Given the description of an element on the screen output the (x, y) to click on. 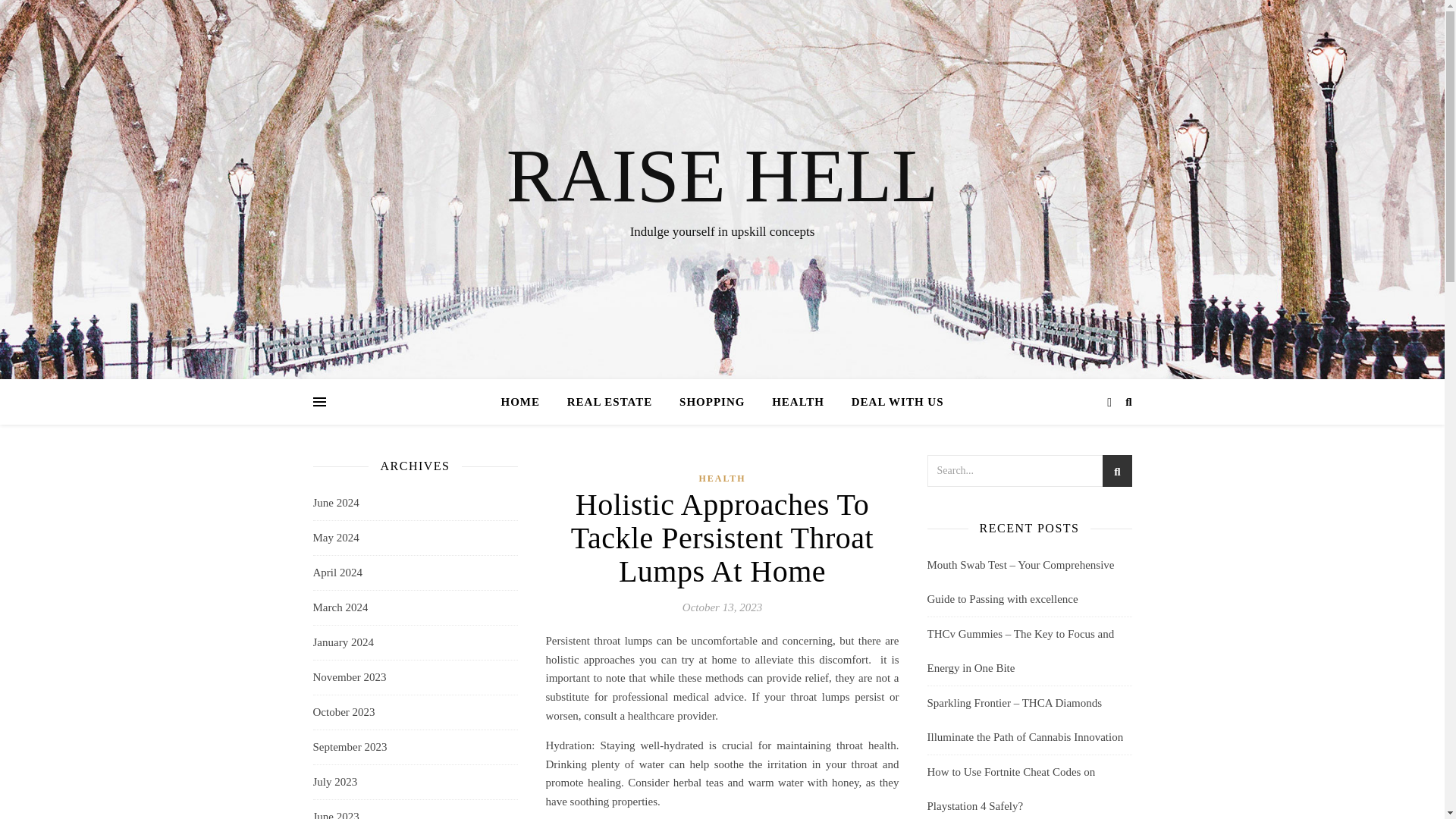
DEAL WITH US (891, 402)
March 2024 (340, 607)
HEALTH (797, 402)
July 2023 (334, 781)
November 2023 (349, 677)
May 2024 (335, 537)
October 2023 (343, 712)
June 2024 (335, 503)
HOME (525, 402)
REAL ESTATE (609, 402)
SHOPPING (711, 402)
September 2023 (350, 747)
June 2023 (335, 809)
April 2024 (337, 572)
January 2024 (342, 642)
